Given the description of an element on the screen output the (x, y) to click on. 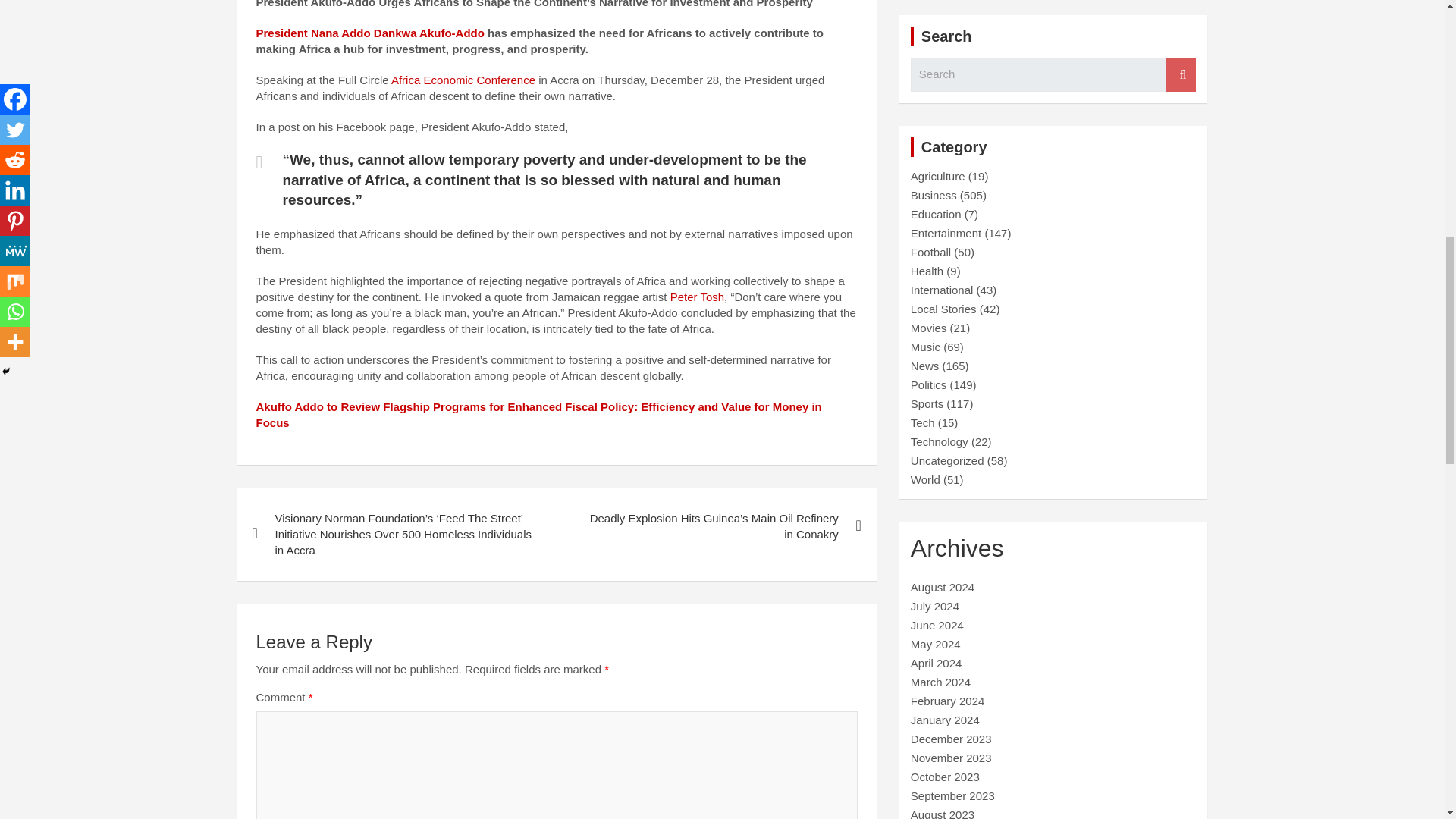
Peter Tosh (696, 296)
Africa Economic Conference (463, 79)
President Nana Addo Dankwa Akufo-Addo (370, 32)
